Given the description of an element on the screen output the (x, y) to click on. 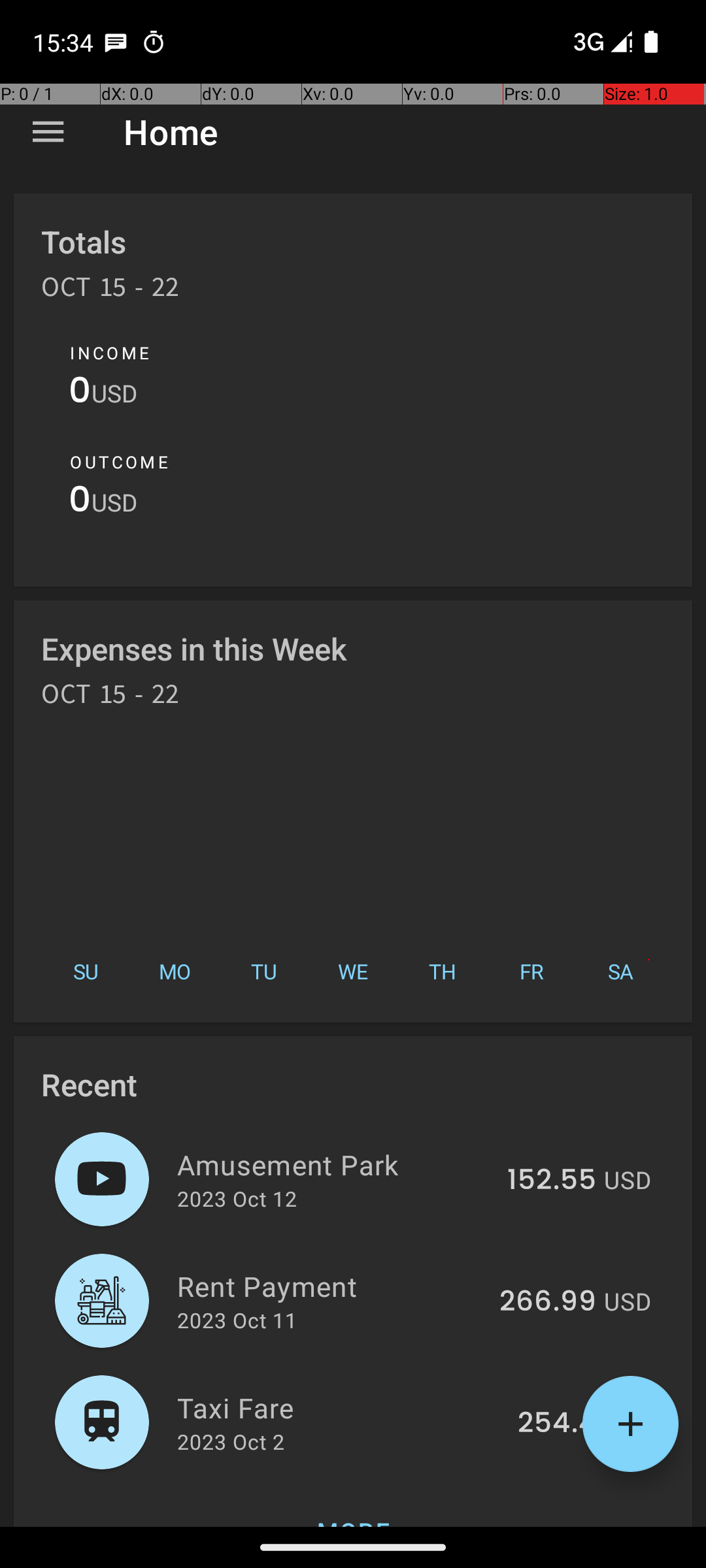
Amusement Park Element type: android.widget.TextView (334, 1164)
152.55 Element type: android.widget.TextView (551, 1180)
Rent Payment Element type: android.widget.TextView (330, 1285)
266.99 Element type: android.widget.TextView (547, 1301)
254.4 Element type: android.widget.TextView (556, 1423)
